Given the description of an element on the screen output the (x, y) to click on. 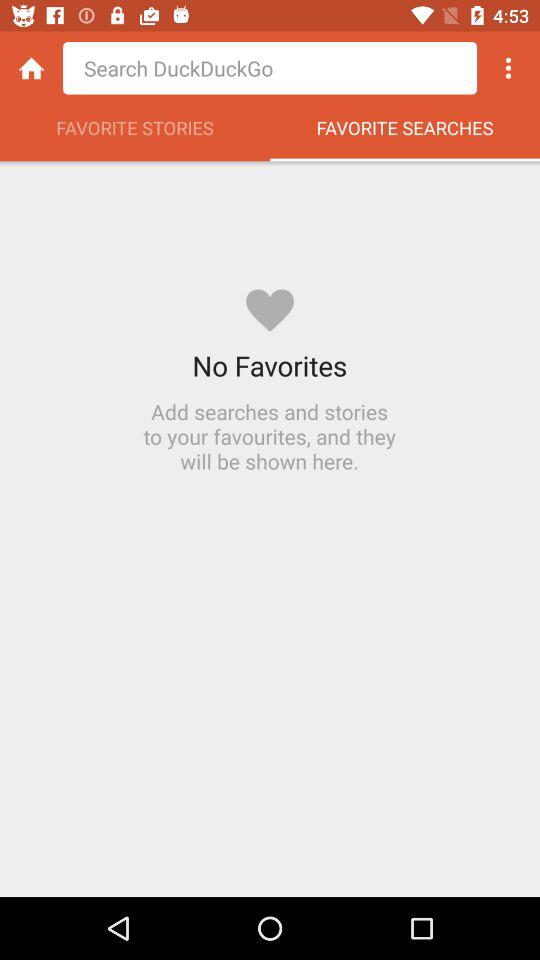
turn off favorite stories (135, 133)
